Given the description of an element on the screen output the (x, y) to click on. 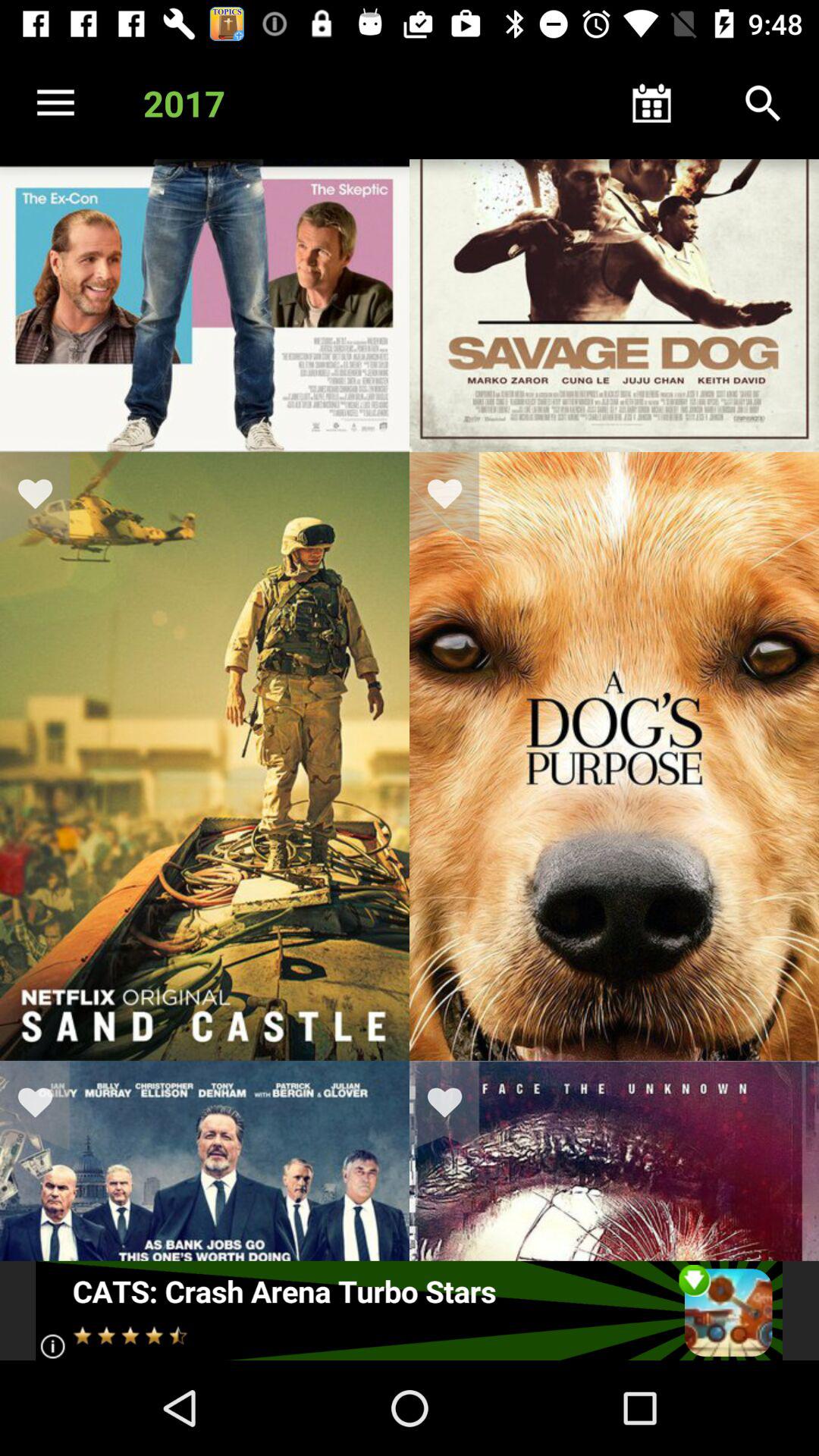
like (44, 497)
